Given the description of an element on the screen output the (x, y) to click on. 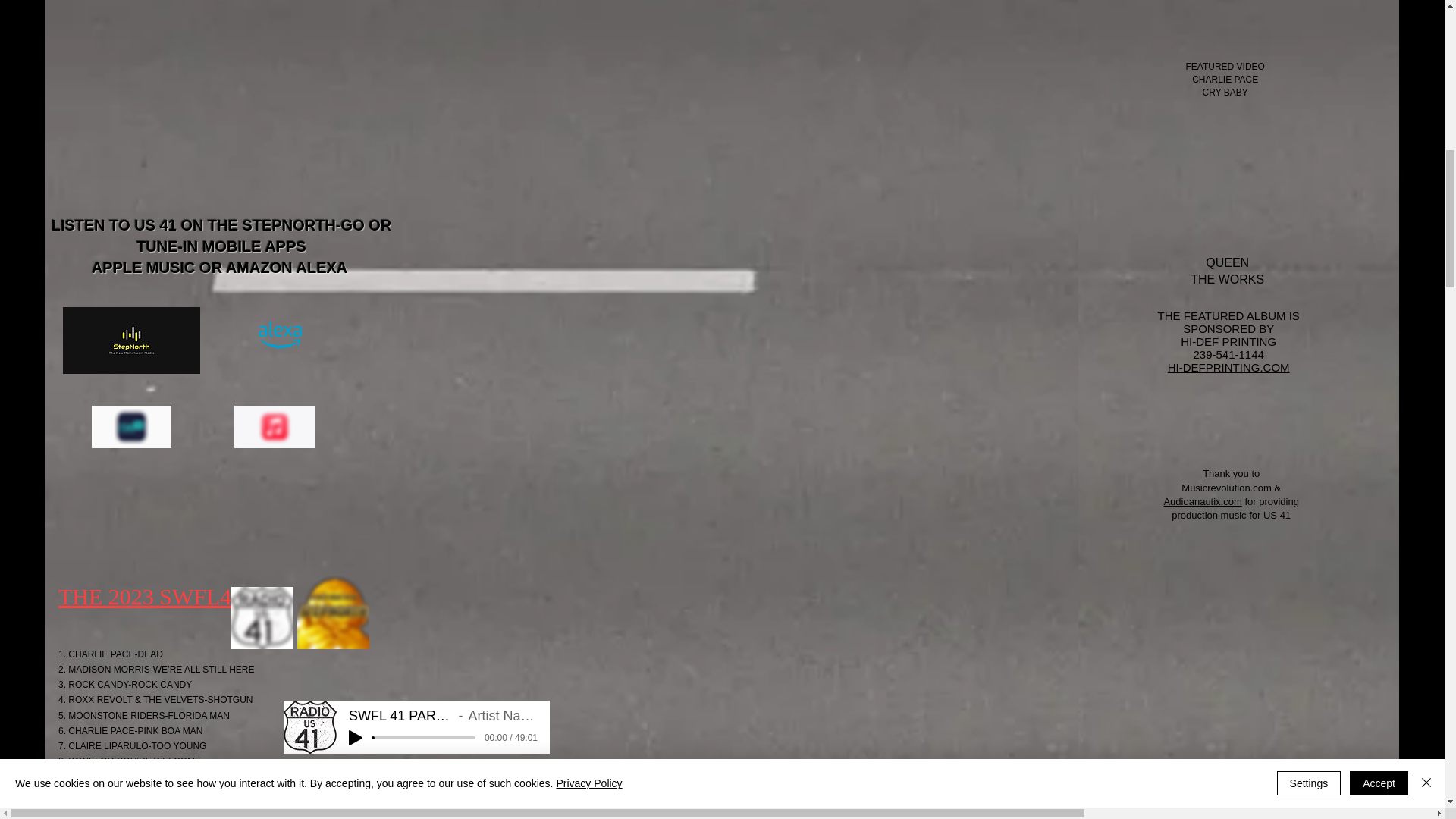
0 (424, 798)
Audioanautix.com (1202, 501)
0 (424, 737)
HI-DEFPRINTING.COM (1228, 367)
